Given the description of an element on the screen output the (x, y) to click on. 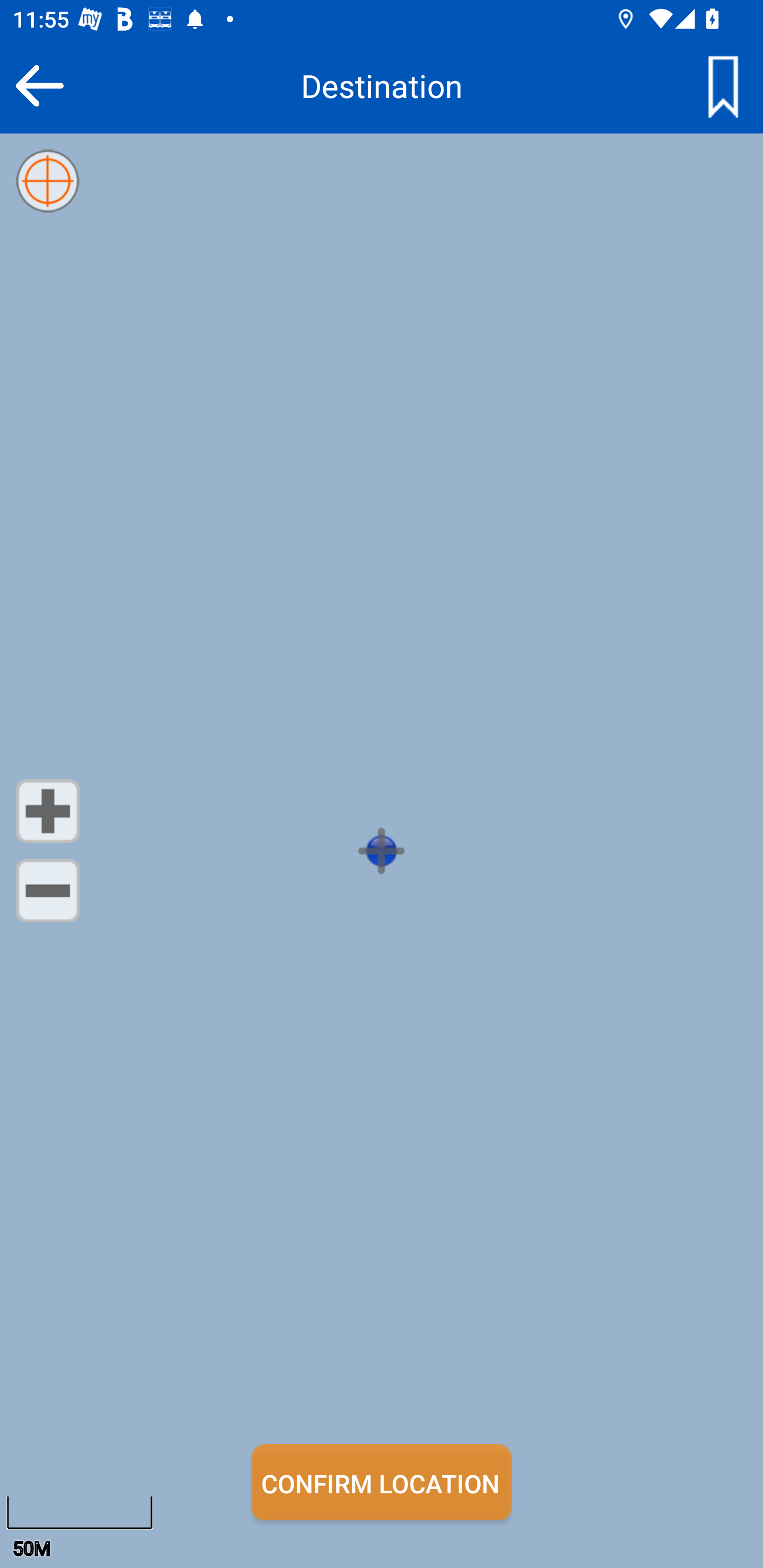
Add bookmark (723, 85)
Back (39, 85)
CONFIRM LOCATION (381, 1482)
